Given the description of an element on the screen output the (x, y) to click on. 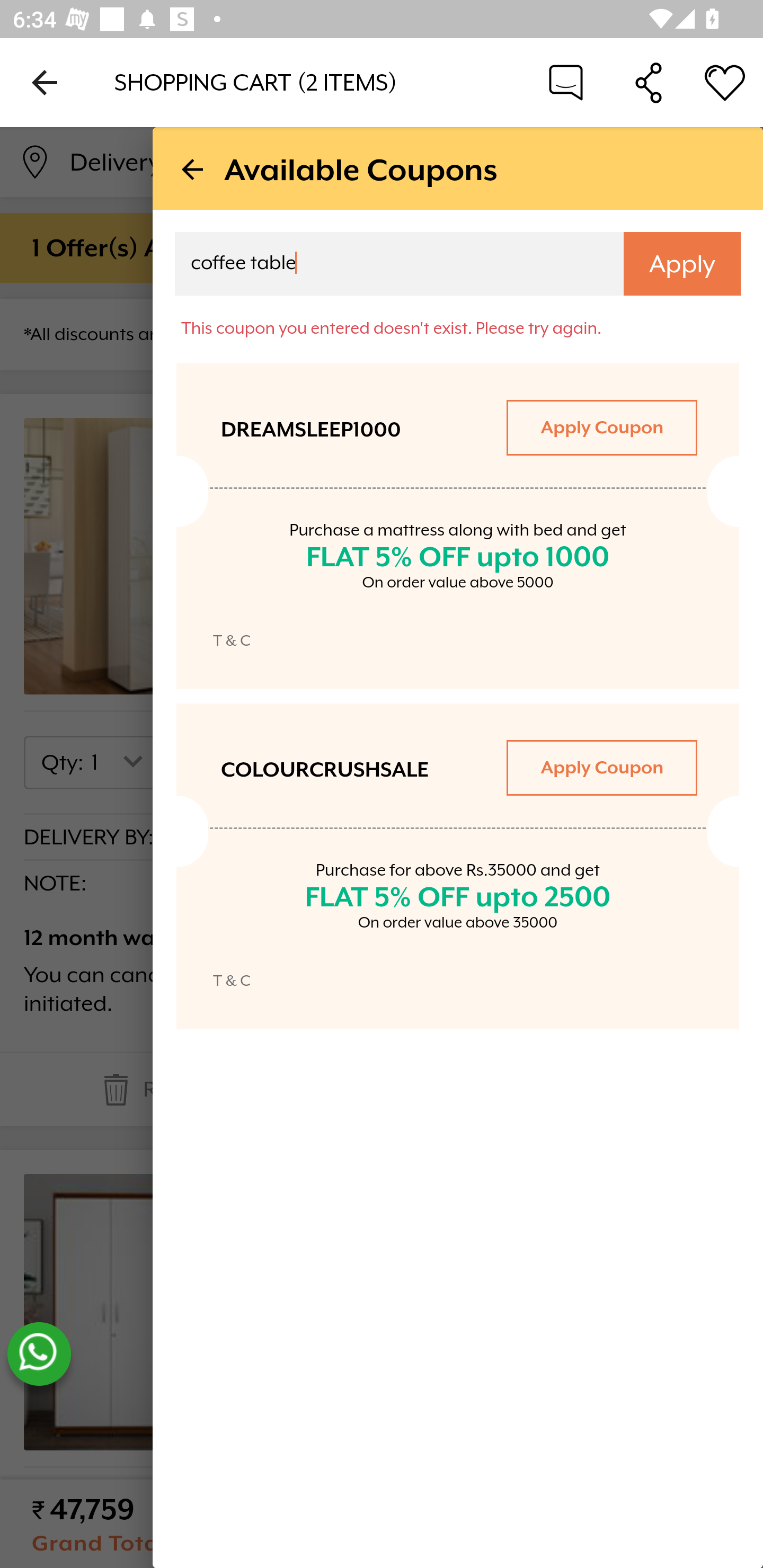
Navigate up (44, 82)
Chat (565, 81)
Share Cart (648, 81)
Wishlist (724, 81)
Apply (681, 264)
coffee table (386, 266)
Apply Coupon (601, 427)
T & C (231, 640)
Apply Coupon (601, 767)
T & C (231, 979)
whatsapp (38, 1353)
